Given the description of an element on the screen output the (x, y) to click on. 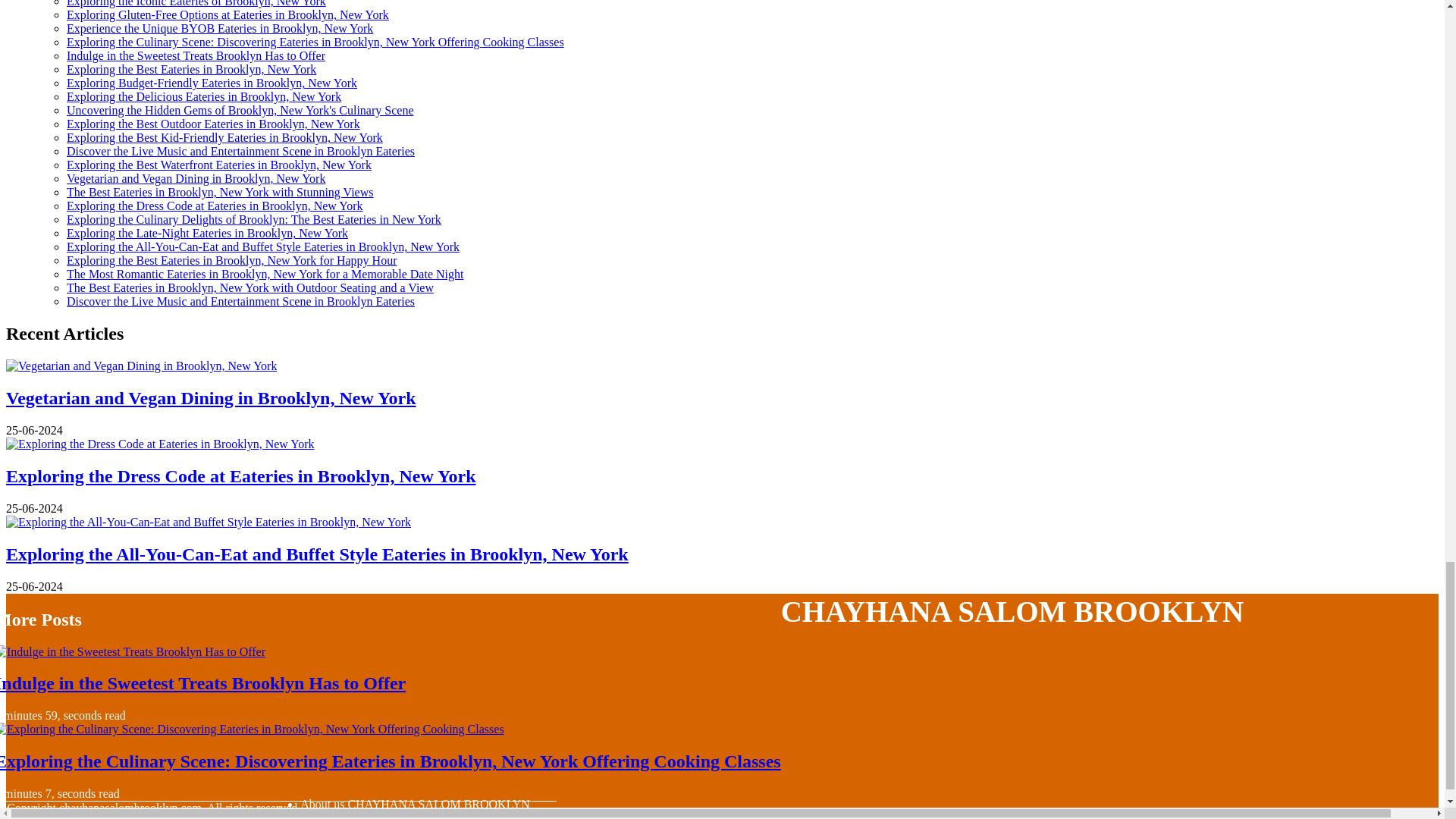
Experience the Unique BYOB Eateries in Brooklyn, New York (219, 28)
Exploring Budget-Friendly Eateries in Brooklyn, New York (211, 82)
Indulge in the Sweetest Treats Brooklyn Has to Offer (195, 55)
Exploring the Iconic Eateries of Brooklyn, New York (196, 3)
Exploring the Best Eateries in Brooklyn, New York (190, 69)
Exploring the Delicious Eateries in Brooklyn, New York (203, 96)
